Given the description of an element on the screen output the (x, y) to click on. 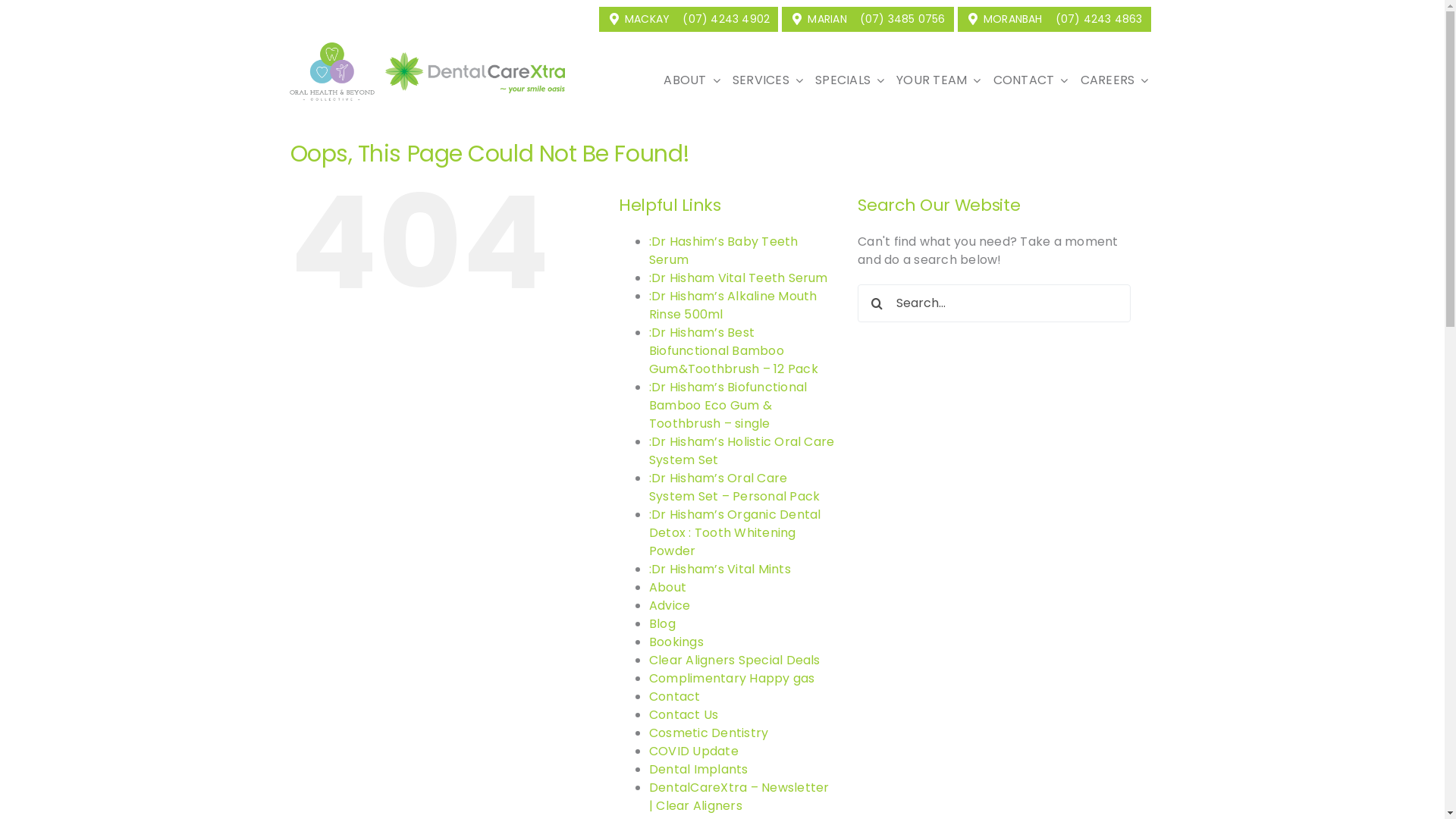
:Dr Hisham Vital Teeth Serum Element type: text (738, 277)
COVID Update Element type: text (693, 750)
Contact Us Element type: text (683, 714)
MACKAY Element type: text (638, 18)
Advice Element type: text (669, 605)
ABOUT Element type: text (691, 80)
CONTACT Element type: text (1030, 80)
Bookings Element type: text (676, 641)
Dental Implants Element type: text (698, 769)
Clear Aligners Special Deals Element type: text (734, 659)
Cosmetic Dentistry Element type: text (708, 732)
(07) 4243 4863 Element type: text (1101, 18)
CAREERS Element type: text (1114, 80)
YOUR TEAM Element type: text (938, 80)
Contact Element type: text (674, 696)
About Element type: text (667, 587)
SERVICES Element type: text (767, 80)
(07) 4243 4902 Element type: text (727, 18)
Complimentary Happy gas Element type: text (732, 678)
MARIAN Element type: text (817, 18)
(07) 3485 0756 Element type: text (904, 18)
MORANBAH Element type: text (1004, 18)
Blog Element type: text (662, 623)
SPECIALS Element type: text (849, 80)
